Given the description of an element on the screen output the (x, y) to click on. 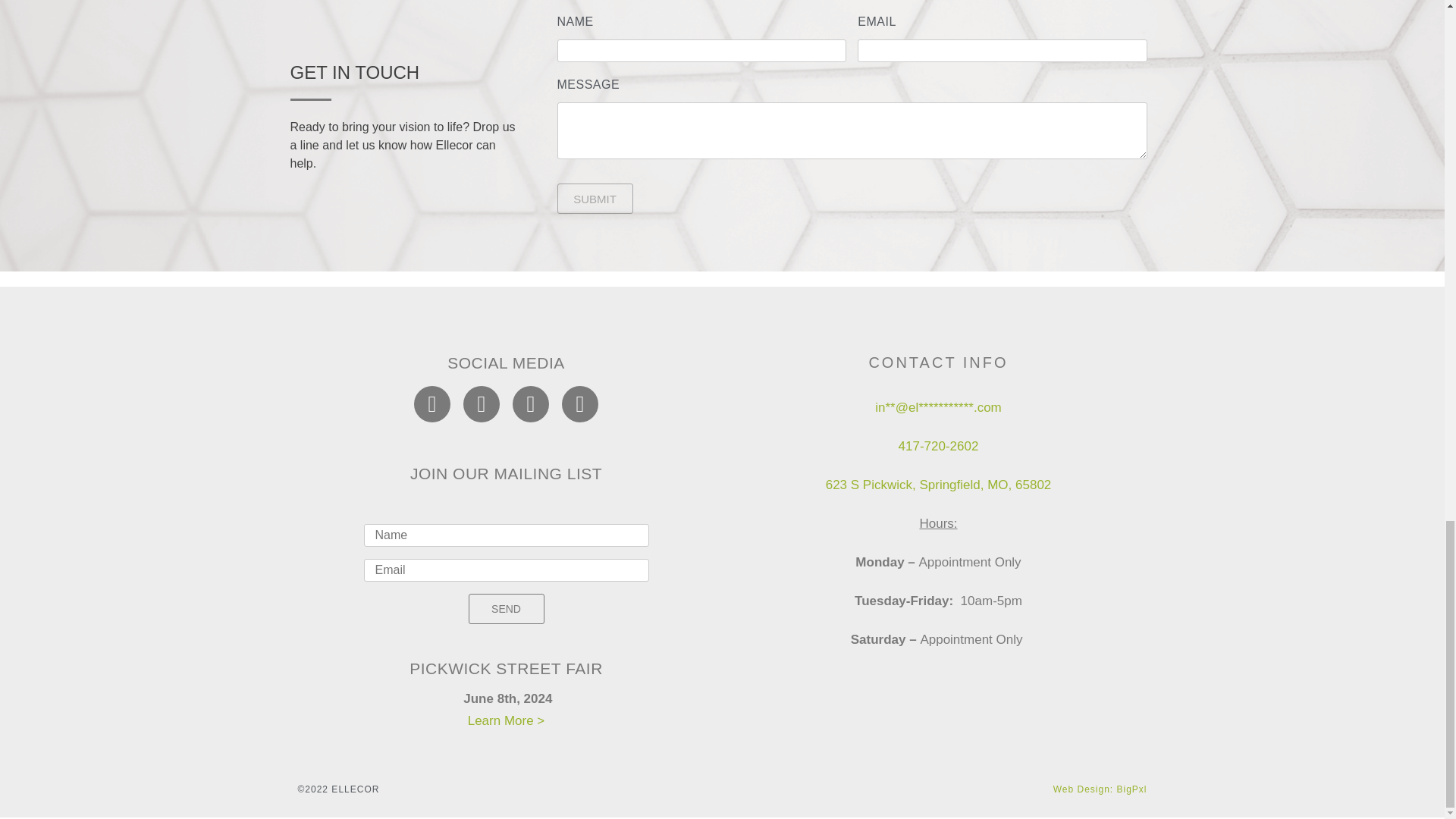
Submit (593, 198)
Send (506, 608)
